Given the description of an element on the screen output the (x, y) to click on. 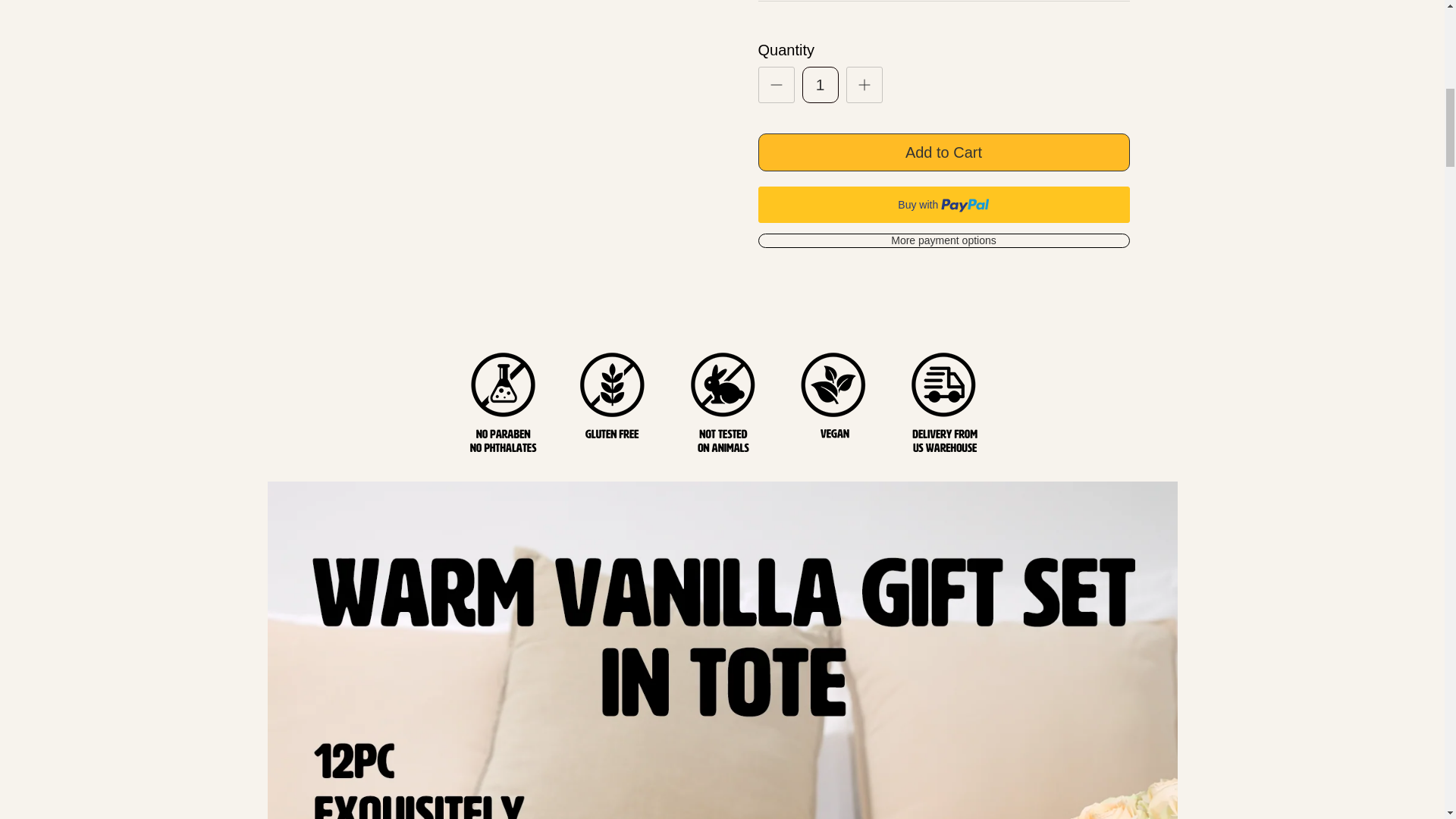
1 (820, 84)
Plus (864, 85)
Minus (776, 85)
